Given the description of an element on the screen output the (x, y) to click on. 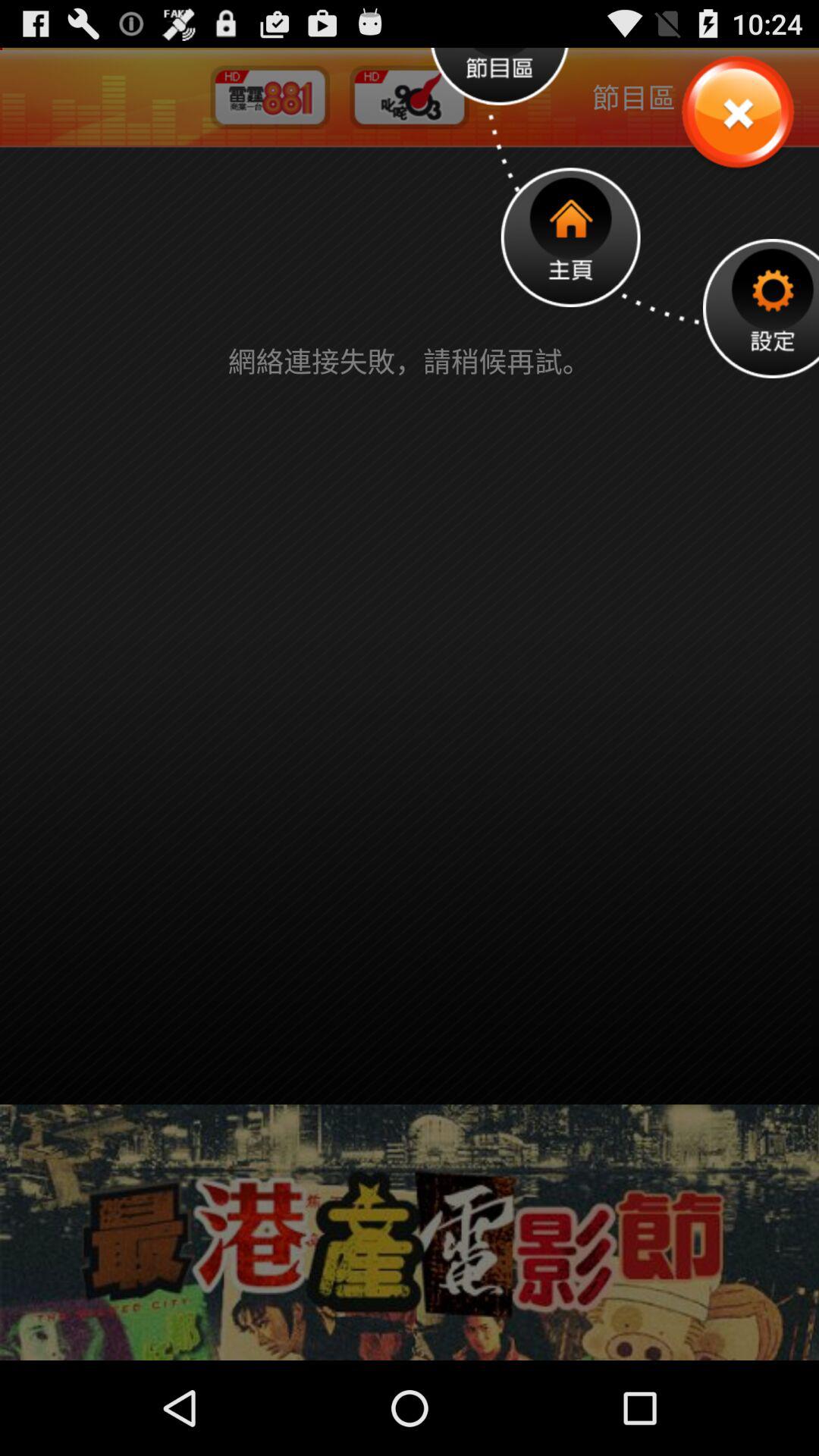
cancel the current selection (737, 113)
